Given the description of an element on the screen output the (x, y) to click on. 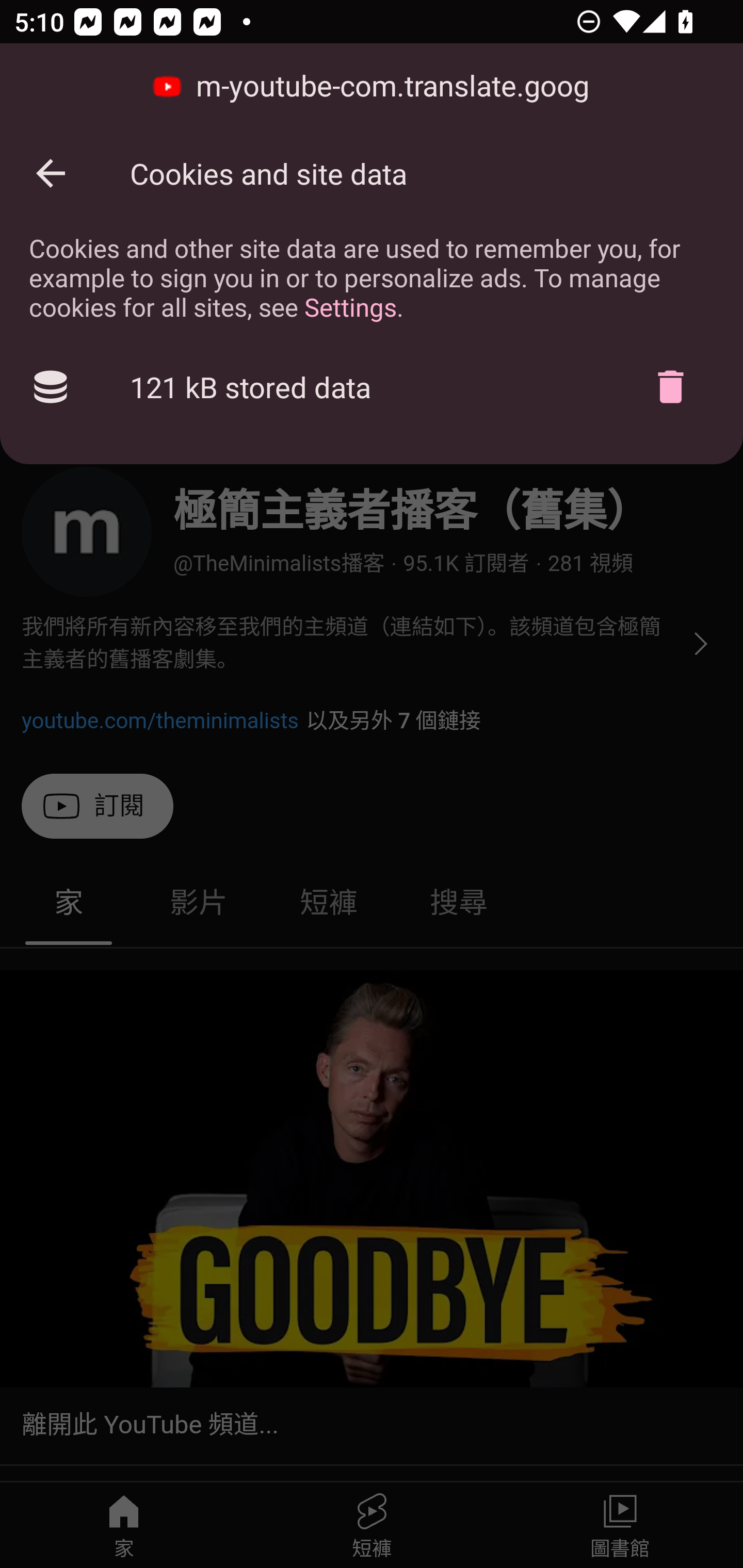
m-youtube-com.translate.goog (371, 86)
Back (50, 173)
121 kB stored data Delete cookies? (371, 386)
